Given the description of an element on the screen output the (x, y) to click on. 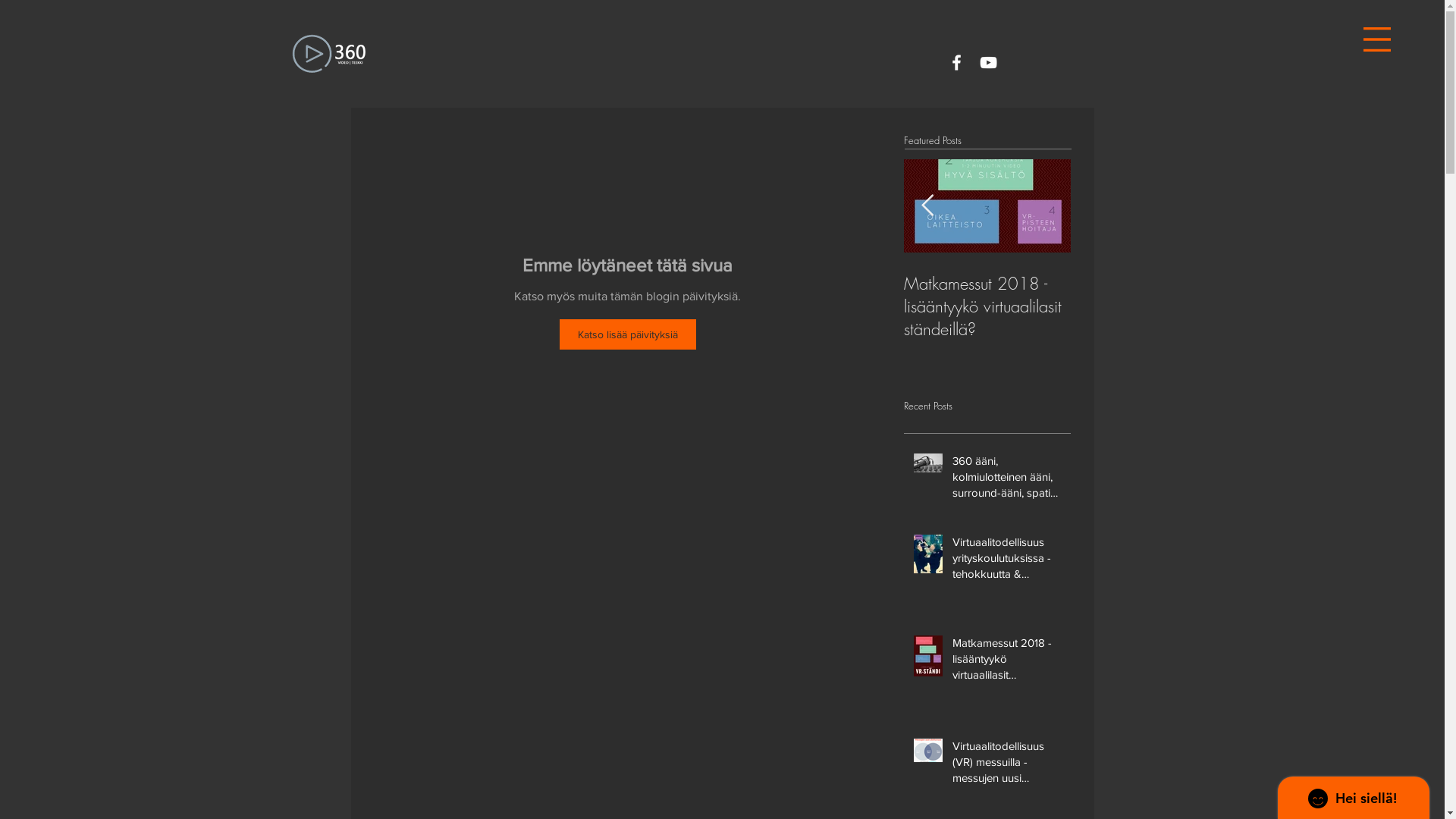
360LOGO TRANSP WHITE.png Element type: hover (328, 53)
